Given the description of an element on the screen output the (x, y) to click on. 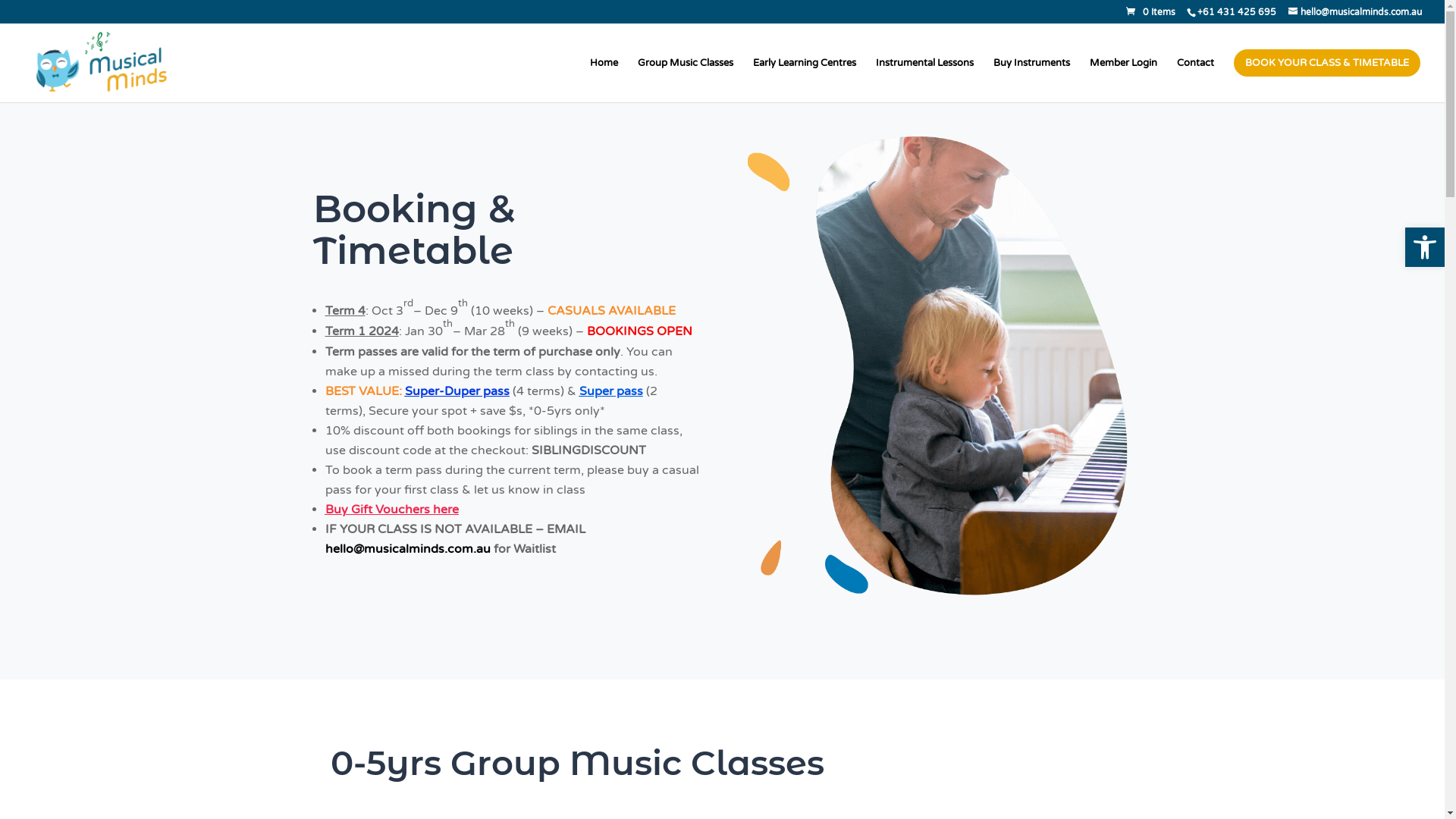
hello@musicalminds.com.au Element type: text (1354, 11)
+61 431 425 695 Element type: text (1236, 11)
Super-Duper pass Element type: text (456, 390)
Early Learning Centres Element type: text (804, 79)
Buy Instruments Element type: text (1031, 79)
Super pass Element type: text (611, 390)
Small toddler boy enjoys playing piano for the first time Element type: hover (937, 365)
hello@musicalminds.com.au Element type: text (406, 548)
0 Items Element type: text (1150, 11)
BOOK YOUR CLASS & TIMETABLE Element type: text (1326, 79)
Contact Element type: text (1195, 79)
Member Login Element type: text (1123, 79)
Buy Gift Vouchers here Element type: text (391, 509)
Group Music Classes Element type: text (685, 79)
Instrumental Lessons Element type: text (924, 79)
Home Element type: text (603, 79)
Open toolbar
Accessibility Tools Element type: text (1424, 246)
